Given the description of an element on the screen output the (x, y) to click on. 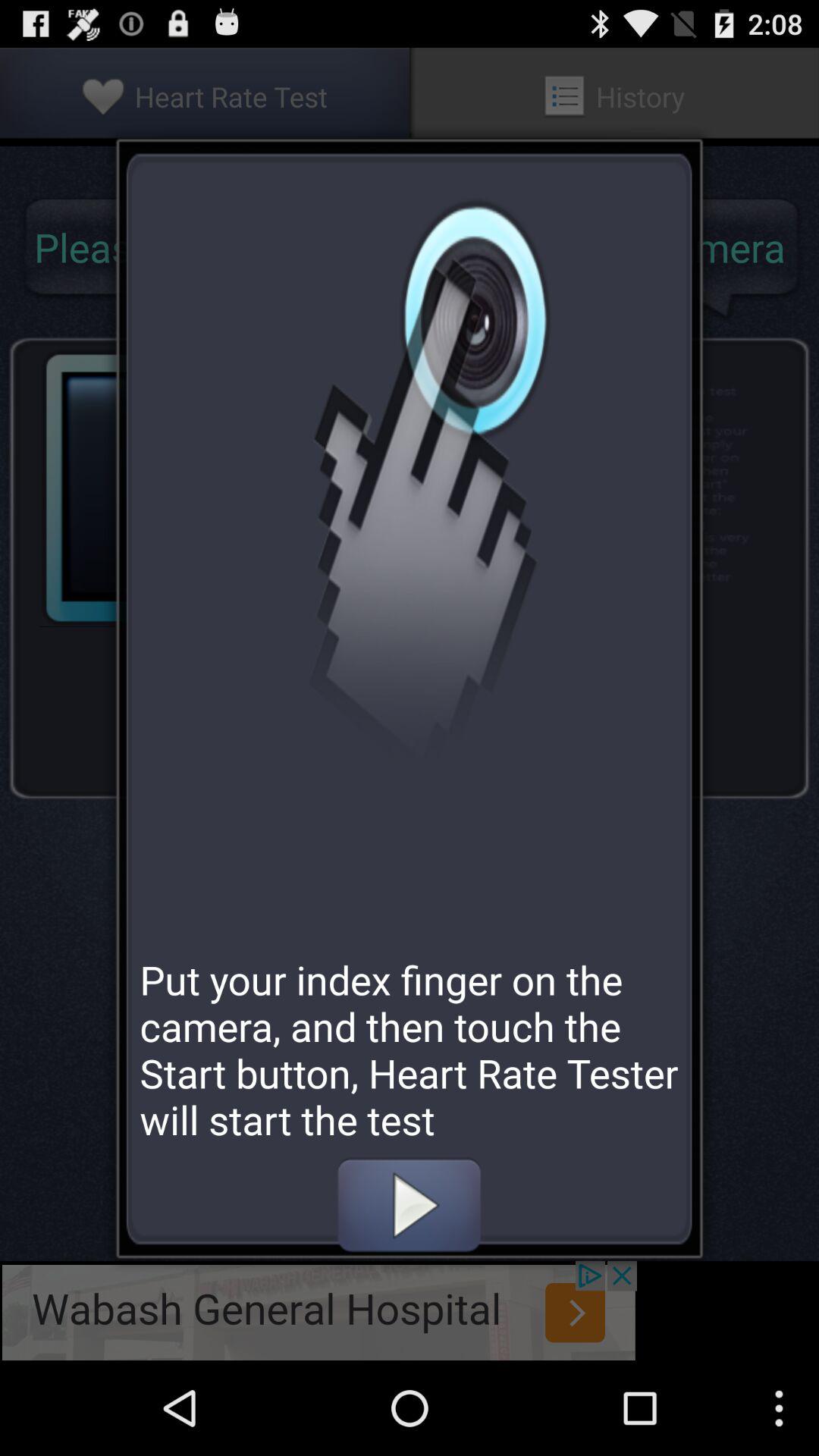
camera play button (408, 1205)
